Given the description of an element on the screen output the (x, y) to click on. 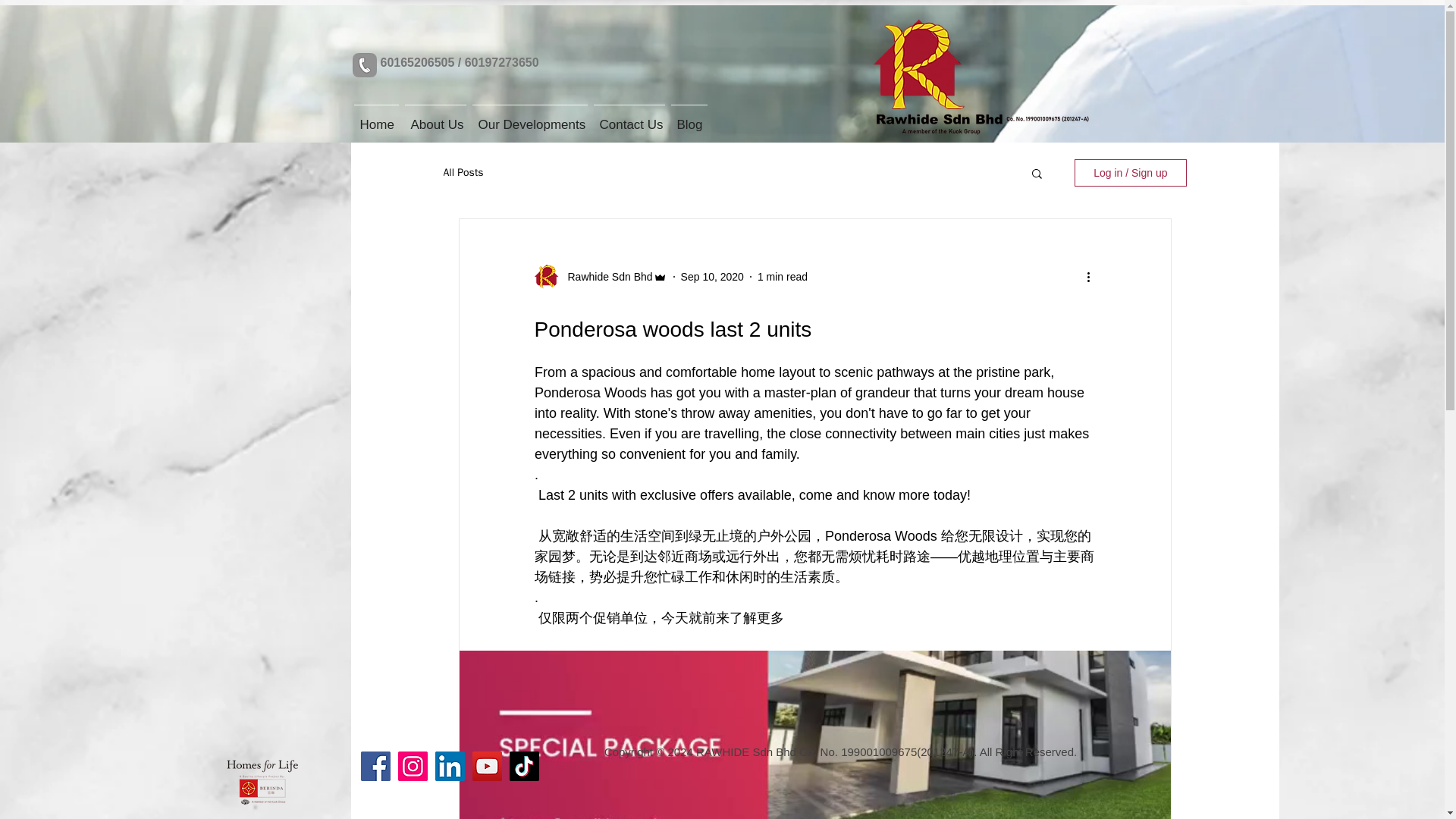
Home (375, 117)
About Us (434, 116)
1 min read (782, 275)
All Posts (462, 172)
Our Developments (528, 117)
Rawhide Sdn Bhd (604, 276)
Home (375, 116)
About Us (434, 117)
Contact Us (627, 117)
BERINDA PROPERTIES LOGO 1-PhotoRoom.png- (261, 782)
